Given the description of an element on the screen output the (x, y) to click on. 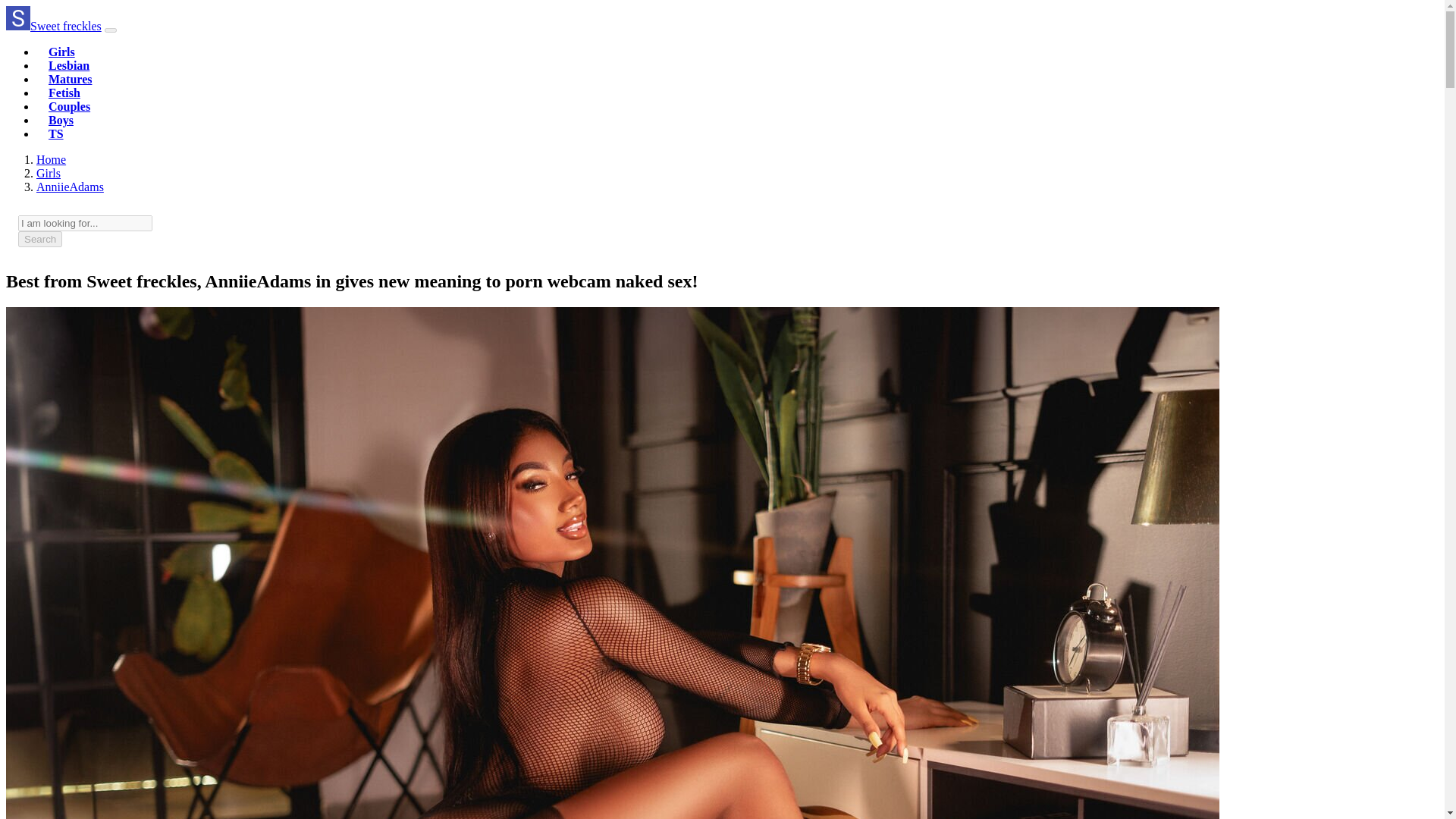
Girls (61, 51)
TS (56, 133)
Sweet freckles (53, 25)
Lesbian (68, 65)
Search (39, 238)
Fetish (64, 92)
Girls (48, 173)
Boys (61, 119)
Lesbian (68, 65)
TS (56, 133)
